Given the description of an element on the screen output the (x, y) to click on. 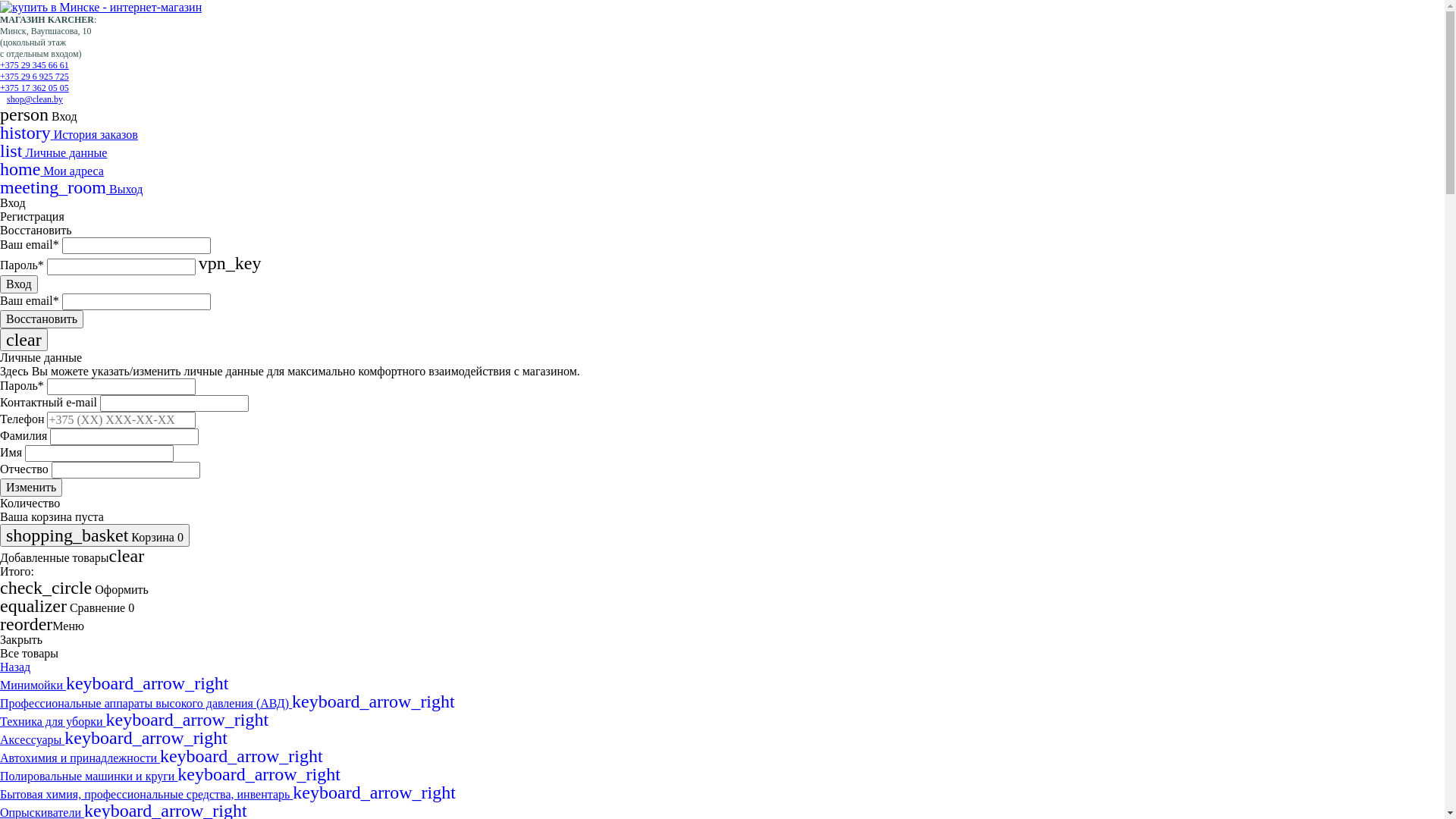
shop@clean.by Element type: text (34, 99)
+375 29 6 925 725 Element type: text (34, 76)
+375 29 345 66 61 Element type: text (34, 64)
vpn_key Element type: text (229, 264)
clear Element type: text (23, 339)
+375 17 362 05 05 Element type: text (34, 87)
